Given the description of an element on the screen output the (x, y) to click on. 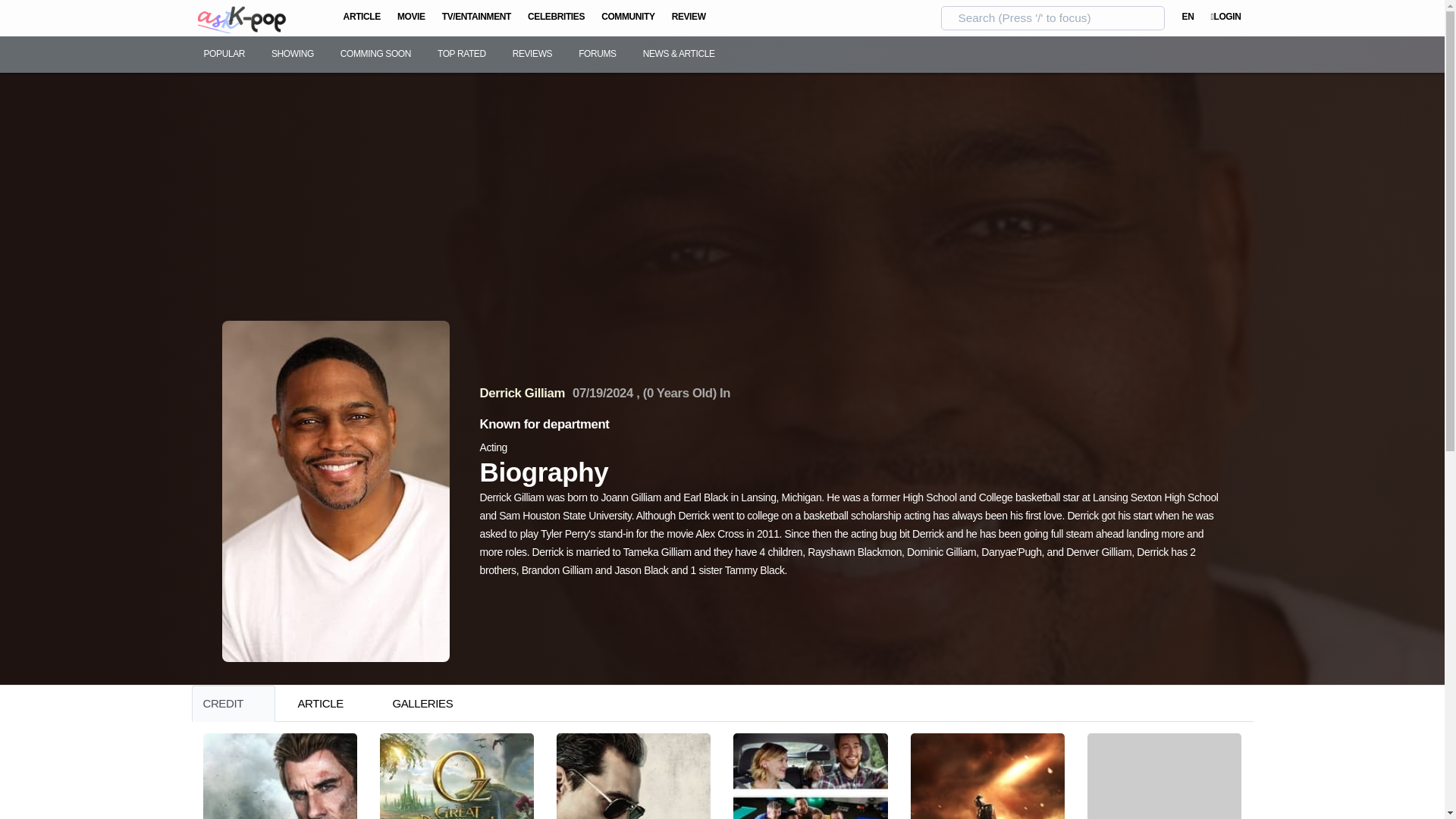
CELEBRITIES (556, 18)
ARTICLE (362, 18)
COMMING SOON (375, 54)
SHOWING (292, 54)
MOVIE (410, 18)
EN (1187, 18)
REVIEW (688, 18)
COMMUNITY (628, 18)
LOGIN (1226, 18)
TOP RATED (461, 54)
REVIEWS (532, 54)
FORUMS (597, 54)
POPULAR (223, 54)
